Given the description of an element on the screen output the (x, y) to click on. 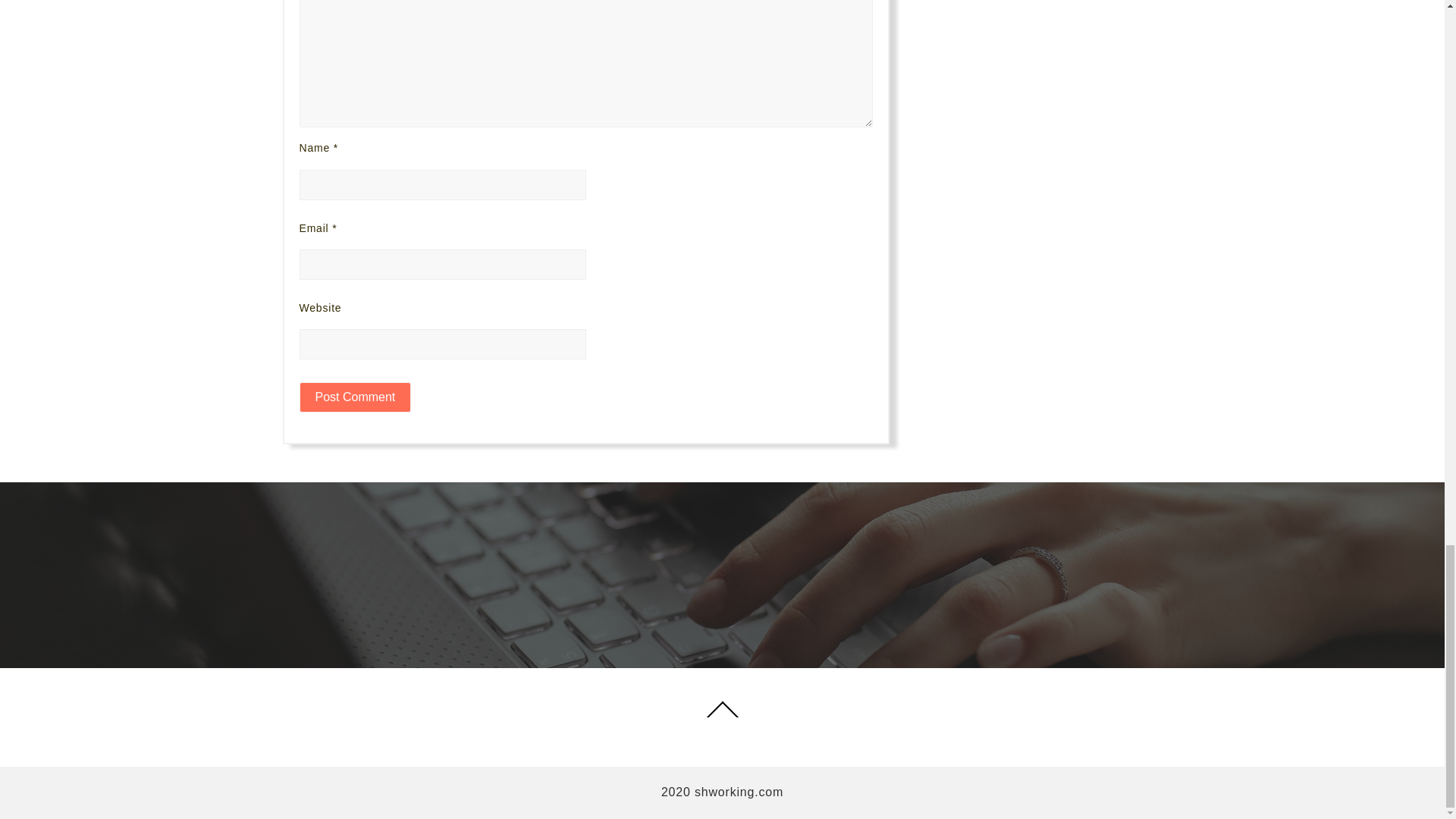
Post Comment (354, 397)
Post Comment (354, 397)
